Given the description of an element on the screen output the (x, y) to click on. 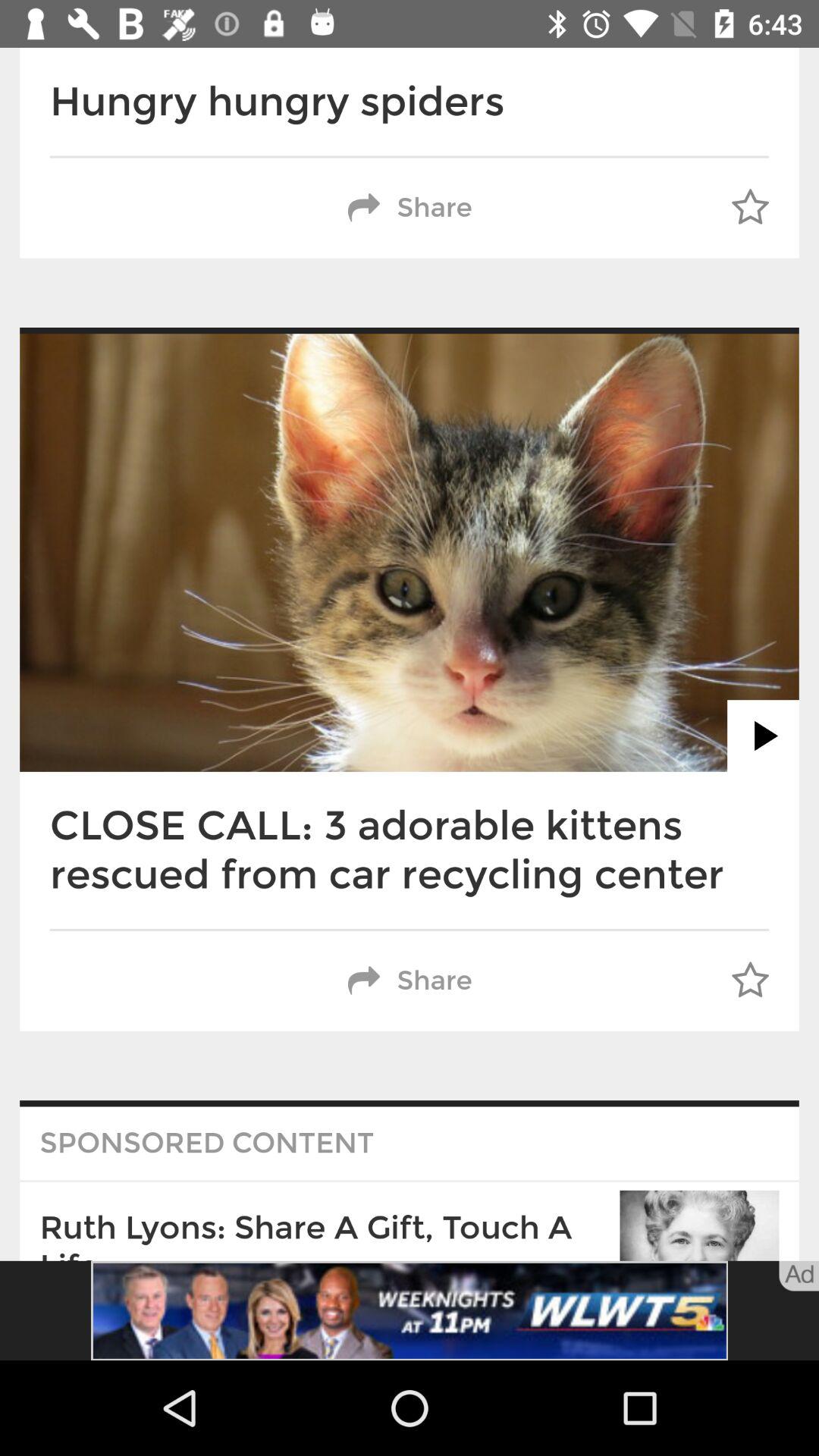
play video (763, 735)
